Given the description of an element on the screen output the (x, y) to click on. 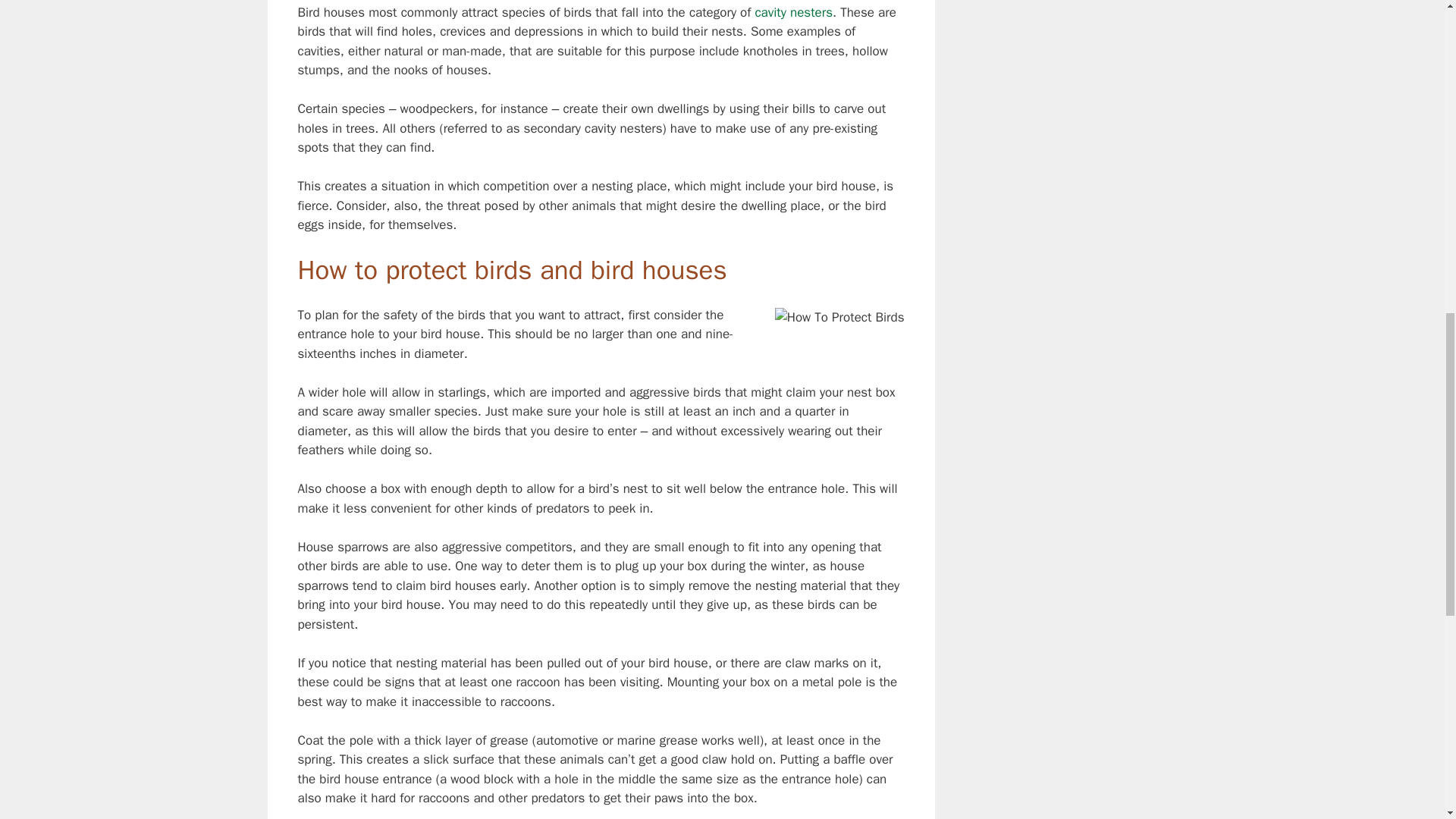
cavity nesters (793, 12)
